Given the description of an element on the screen output the (x, y) to click on. 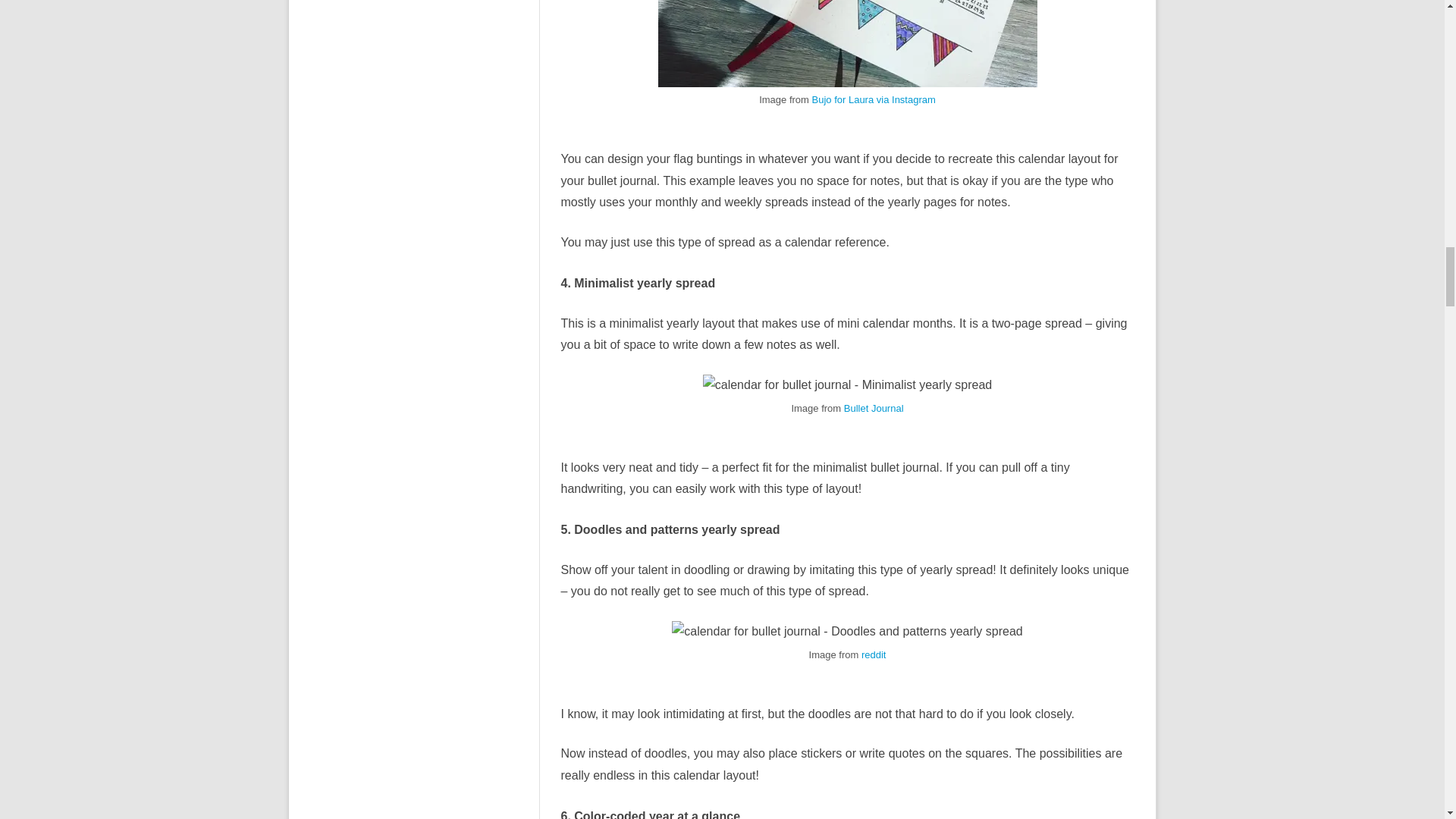
Bullet Journal (874, 408)
Bujo for Laura via Instagram (874, 99)
reddit (873, 654)
